Given the description of an element on the screen output the (x, y) to click on. 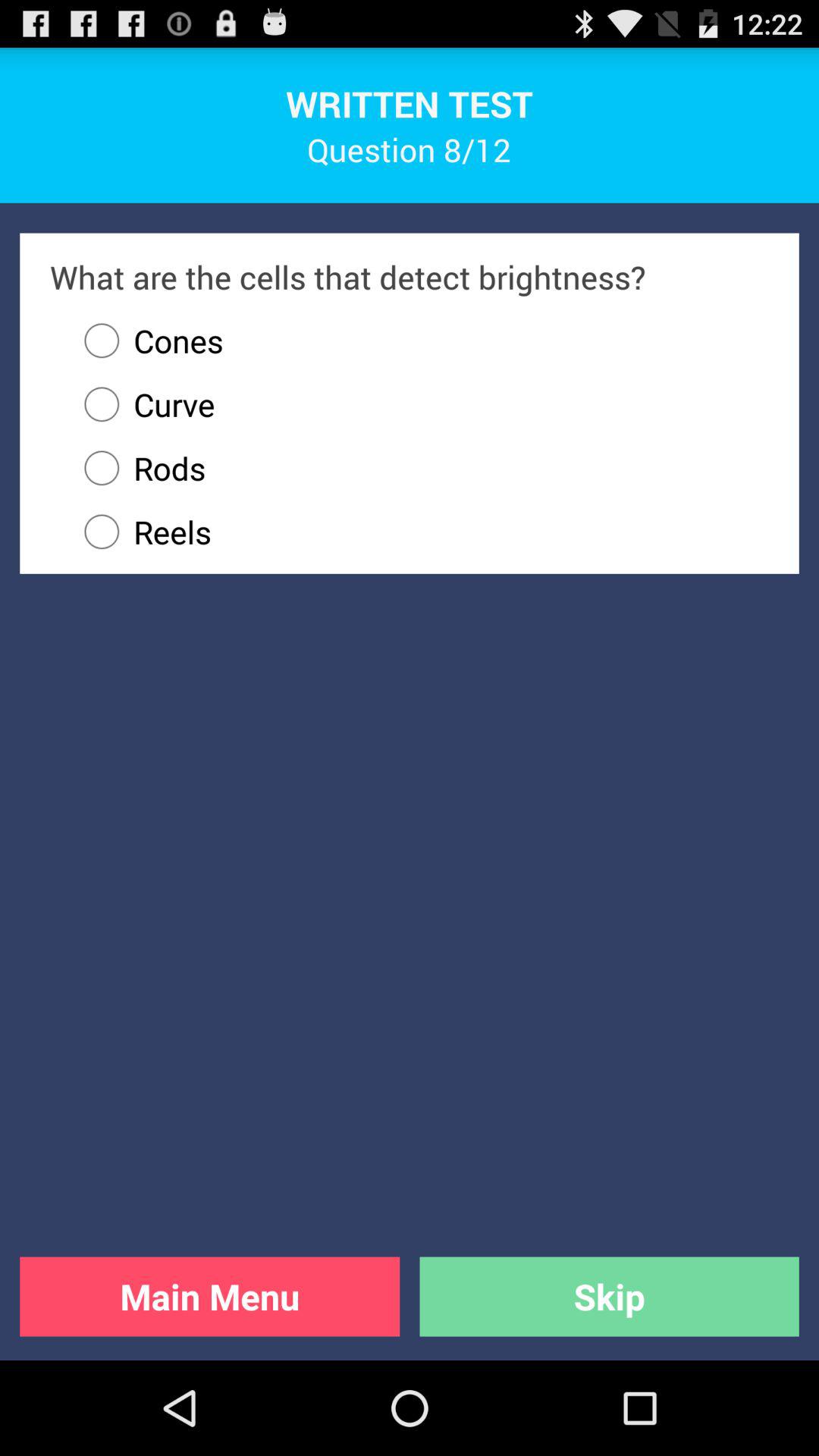
flip to the skip item (609, 1296)
